Given the description of an element on the screen output the (x, y) to click on. 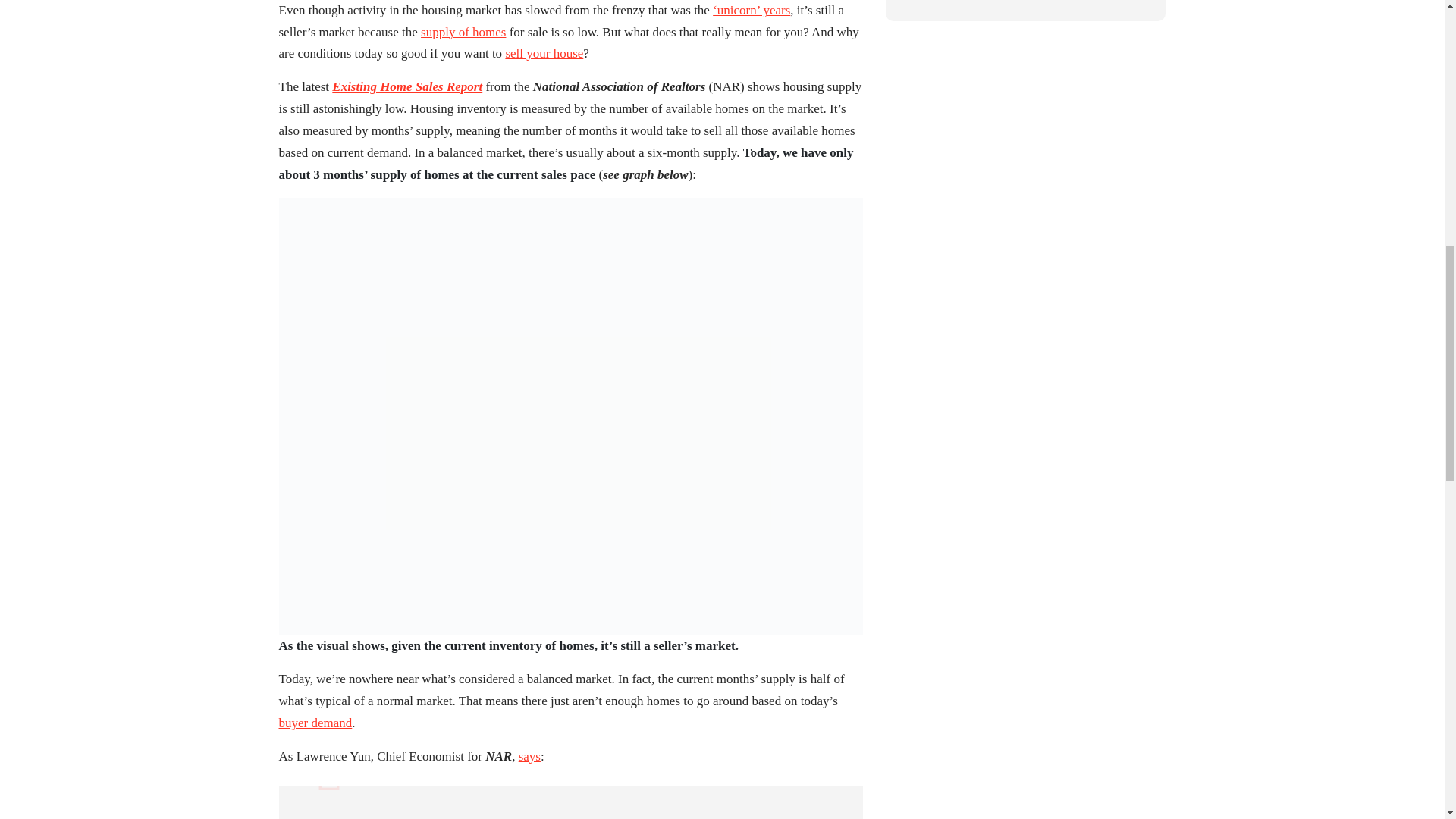
supply of homes (462, 33)
sell your house (544, 54)
says (529, 757)
buyer demand (315, 723)
inventory of homes (541, 646)
Existing Home Sales Report (406, 87)
